Given the description of an element on the screen output the (x, y) to click on. 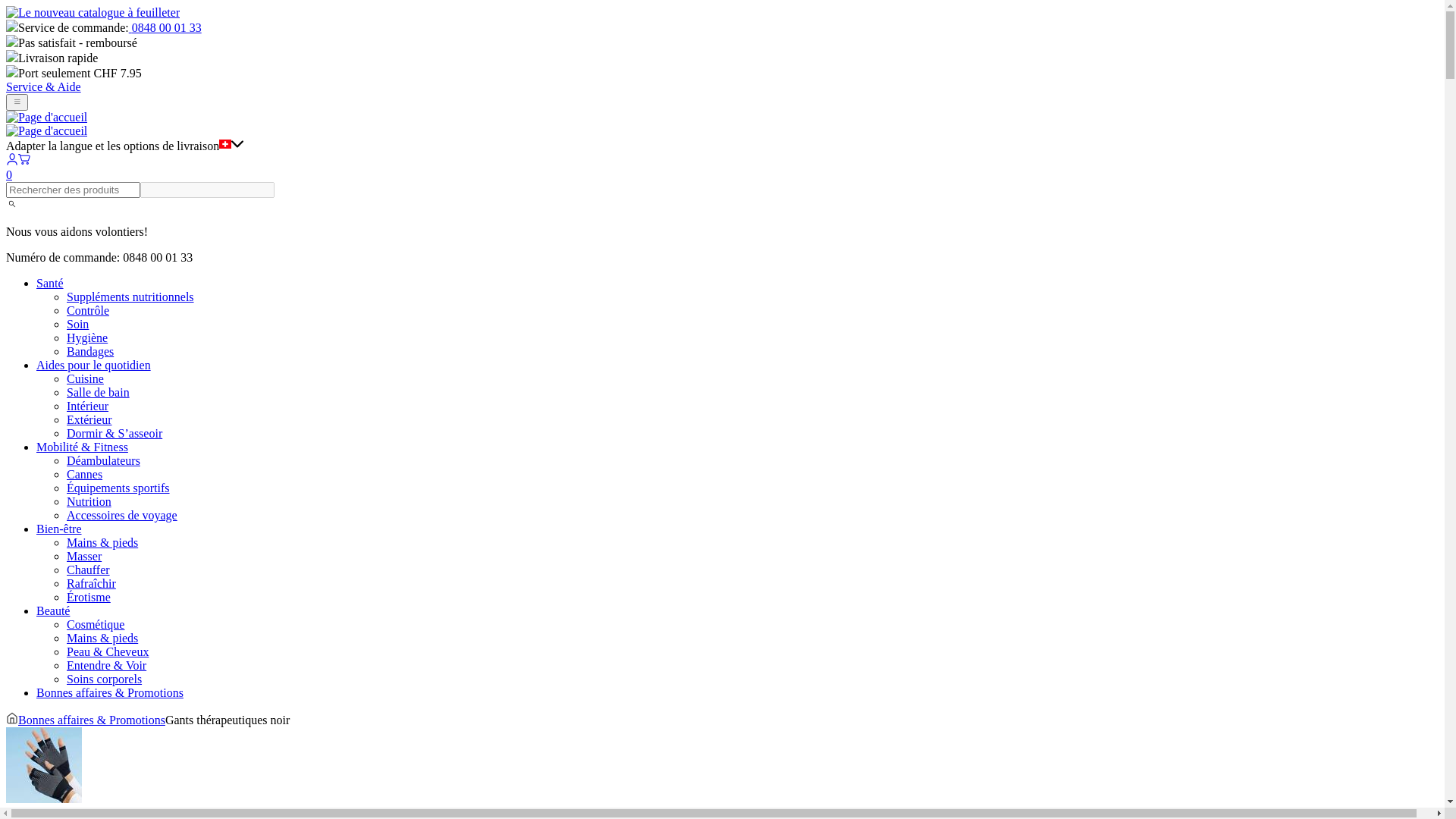
Accessoires de voyage Element type: text (121, 514)
0848 00 01 33 Element type: text (164, 27)
Cannes Element type: text (84, 473)
Soins corporels Element type: text (103, 678)
Cuisine Element type: text (84, 378)
Nutrition Element type: text (88, 501)
0 Element type: text (722, 168)
Mains & pieds Element type: text (102, 542)
Salle de bain Element type: text (97, 391)
Entendre & Voir Element type: text (106, 664)
Bonnes affaires & Promotions Element type: text (91, 719)
Mains & pieds Element type: text (102, 637)
Chauffer Element type: text (87, 569)
Bandages Element type: text (89, 351)
Masser Element type: text (83, 555)
Bonnes affaires & Promotions Element type: text (109, 692)
Peau & Cheveux Element type: text (107, 651)
Aides pour le quotidien Element type: text (93, 364)
Service & Aide Element type: text (43, 86)
Soin Element type: text (77, 323)
